Given the description of an element on the screen output the (x, y) to click on. 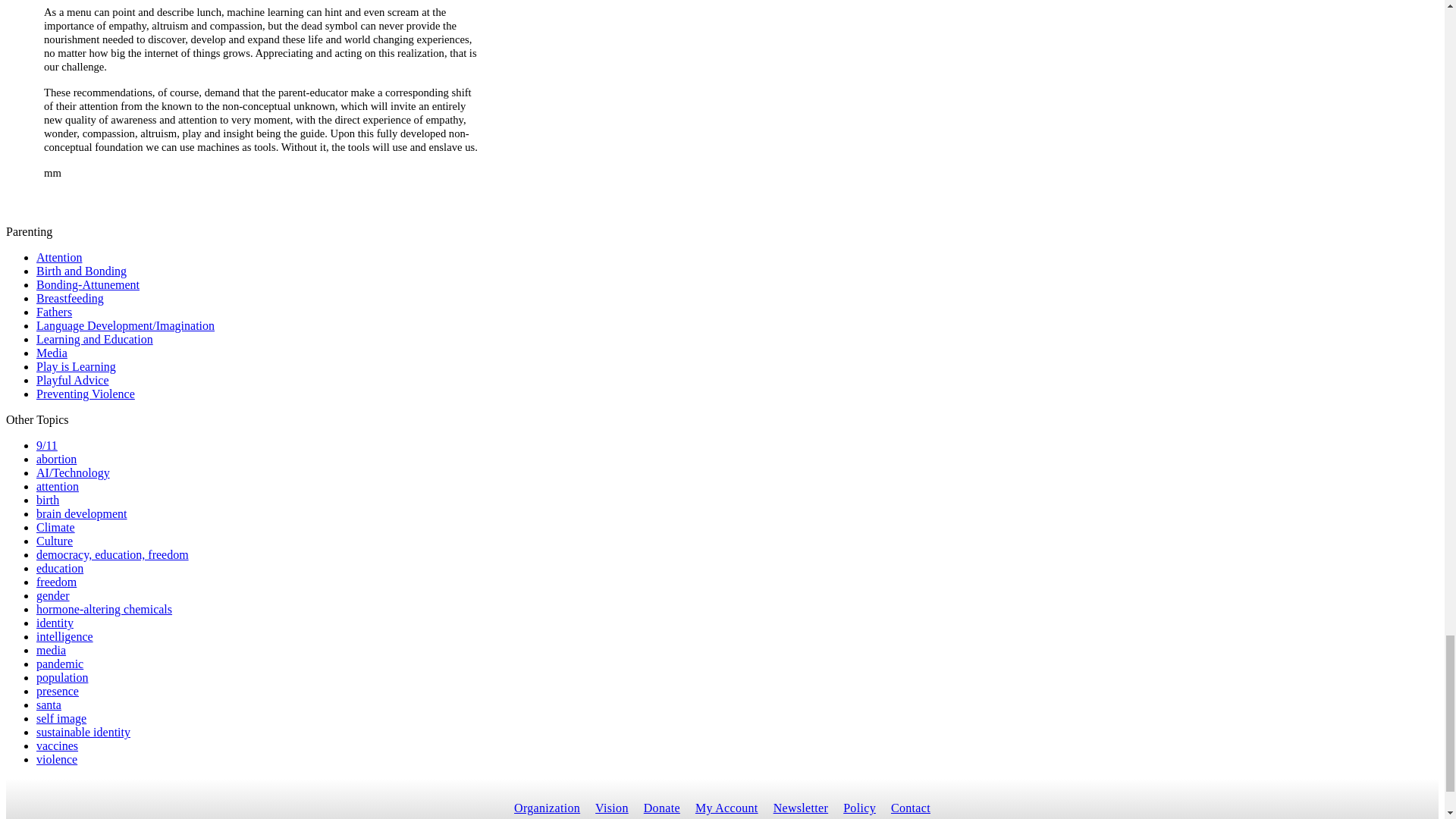
Fathers (53, 311)
Preventing Violence (85, 393)
Breastfeeding (69, 297)
abortion (56, 459)
brain development (82, 513)
Bonding-Attunement (87, 284)
Play is Learning (76, 366)
Birth and Bonding (81, 270)
attention (57, 486)
Playful Advice (72, 379)
Learning and Education (94, 338)
Attention (58, 256)
Media (51, 352)
birth (47, 499)
